Given the description of an element on the screen output the (x, y) to click on. 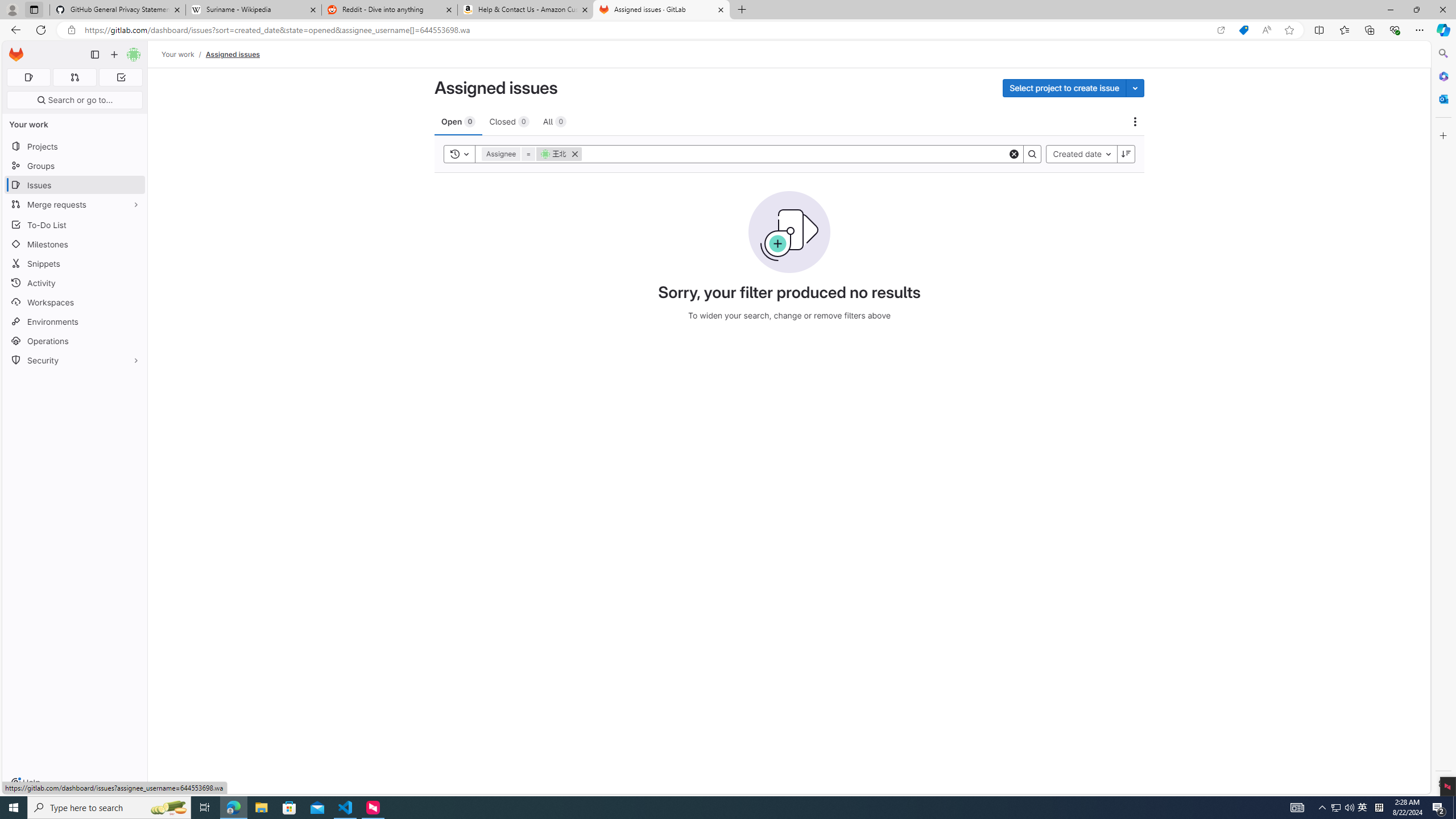
Created date (1081, 153)
Closed 0 (508, 121)
GitHub General Privacy Statement - GitHub Docs (117, 9)
To-Do List (74, 224)
Activity (74, 282)
Actions (1134, 121)
Environments (74, 321)
